Given the description of an element on the screen output the (x, y) to click on. 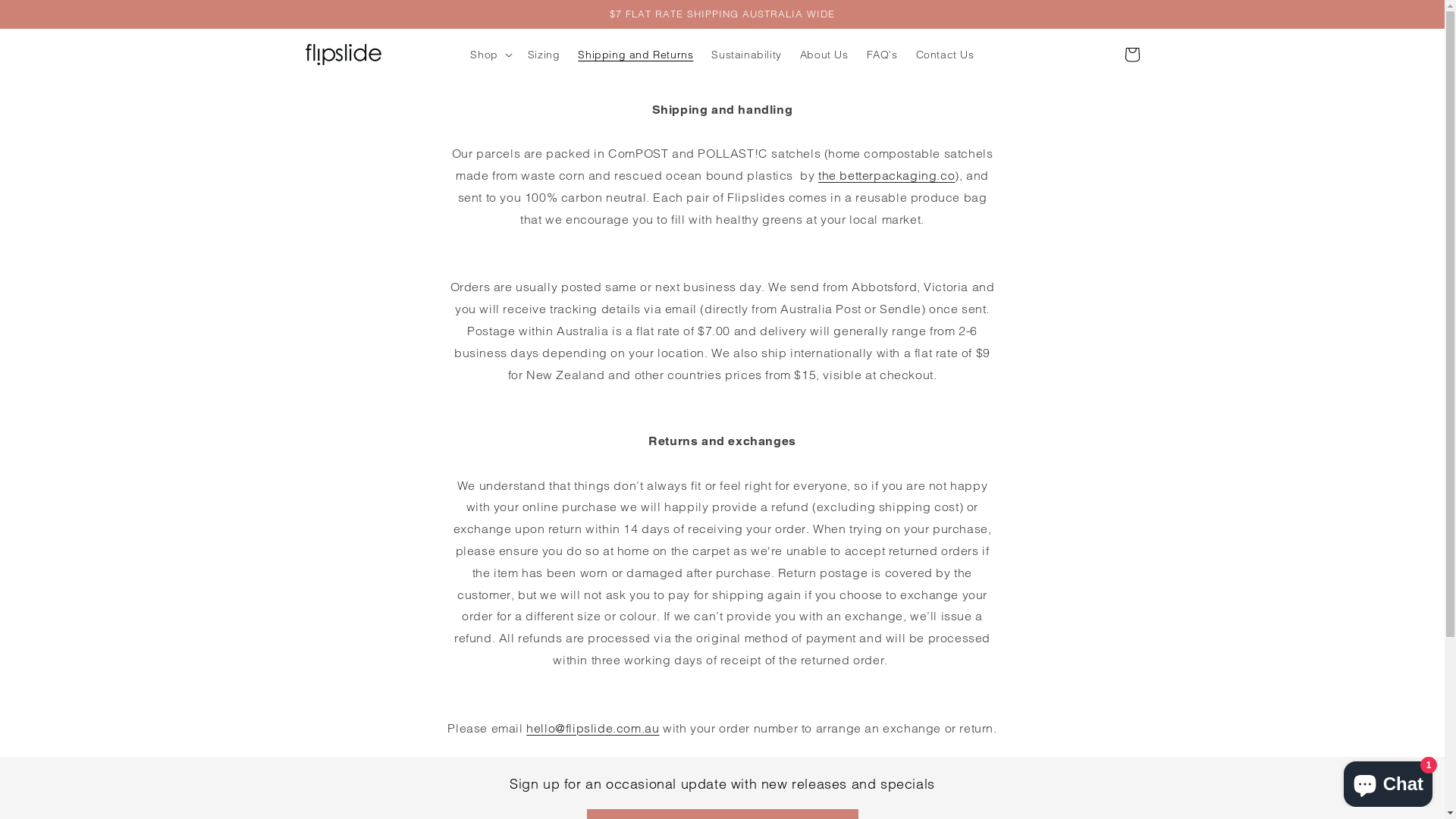
the betterpackaging.co Element type: text (886, 174)
About Us Element type: text (823, 54)
Contact Us Element type: text (944, 54)
hello@flipslide.com.au Element type: text (592, 727)
FAQ's Element type: text (881, 54)
Sustainability Element type: text (746, 54)
Shopify online store chat Element type: hover (1388, 780)
Shipping and Returns Element type: text (635, 54)
Cart Element type: text (1131, 54)
Sizing Element type: text (543, 54)
